Given the description of an element on the screen output the (x, y) to click on. 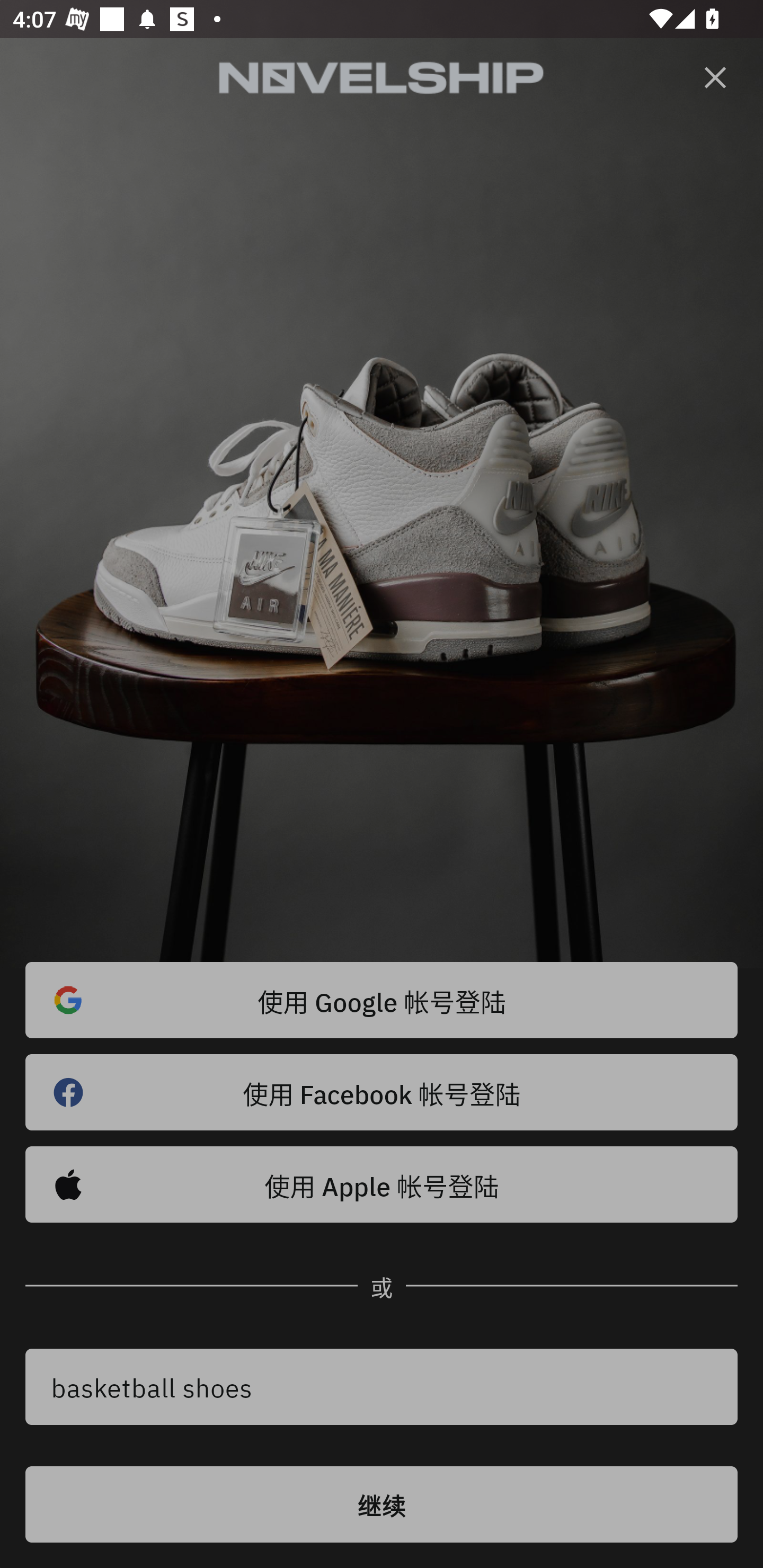
使用 Google 帐号登陆 (381, 1000)
使用 Facebook 帐号登陆 󰈌 (381, 1091)
 使用 Apple 帐号登陆 (381, 1184)
basketball shoes (381, 1386)
继续 (381, 1504)
